Given the description of an element on the screen output the (x, y) to click on. 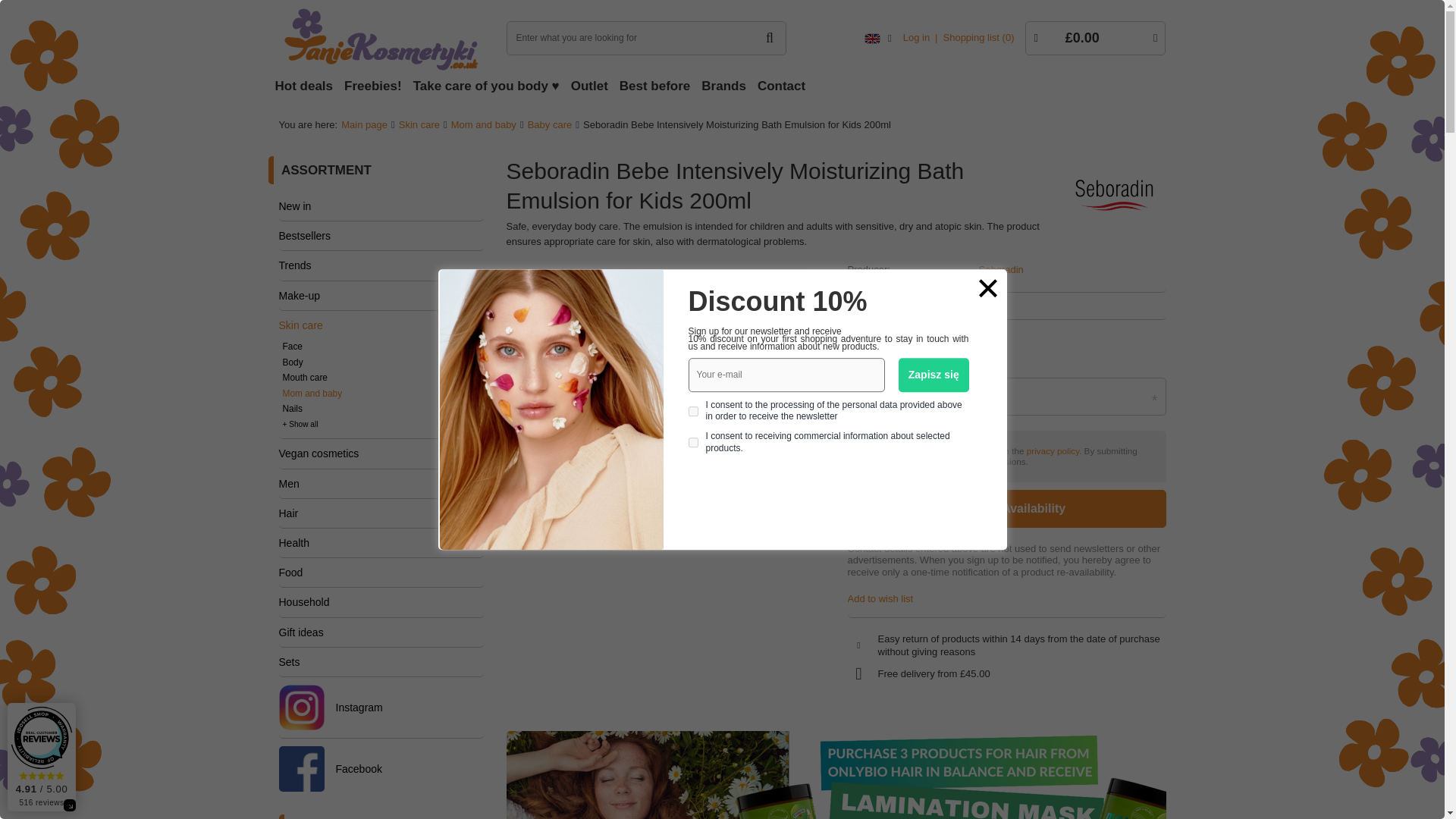
Hot deals (305, 86)
Bestsellers (381, 235)
 Freebies! (374, 86)
Skin care (418, 124)
Health (381, 542)
Freebies! (374, 86)
Hot deals (305, 86)
Main page (363, 124)
Brands (725, 86)
Hair (381, 512)
Best before (656, 86)
Skin care (381, 325)
Contact (783, 86)
Click here to see all categories (326, 169)
Men (381, 483)
